Given the description of an element on the screen output the (x, y) to click on. 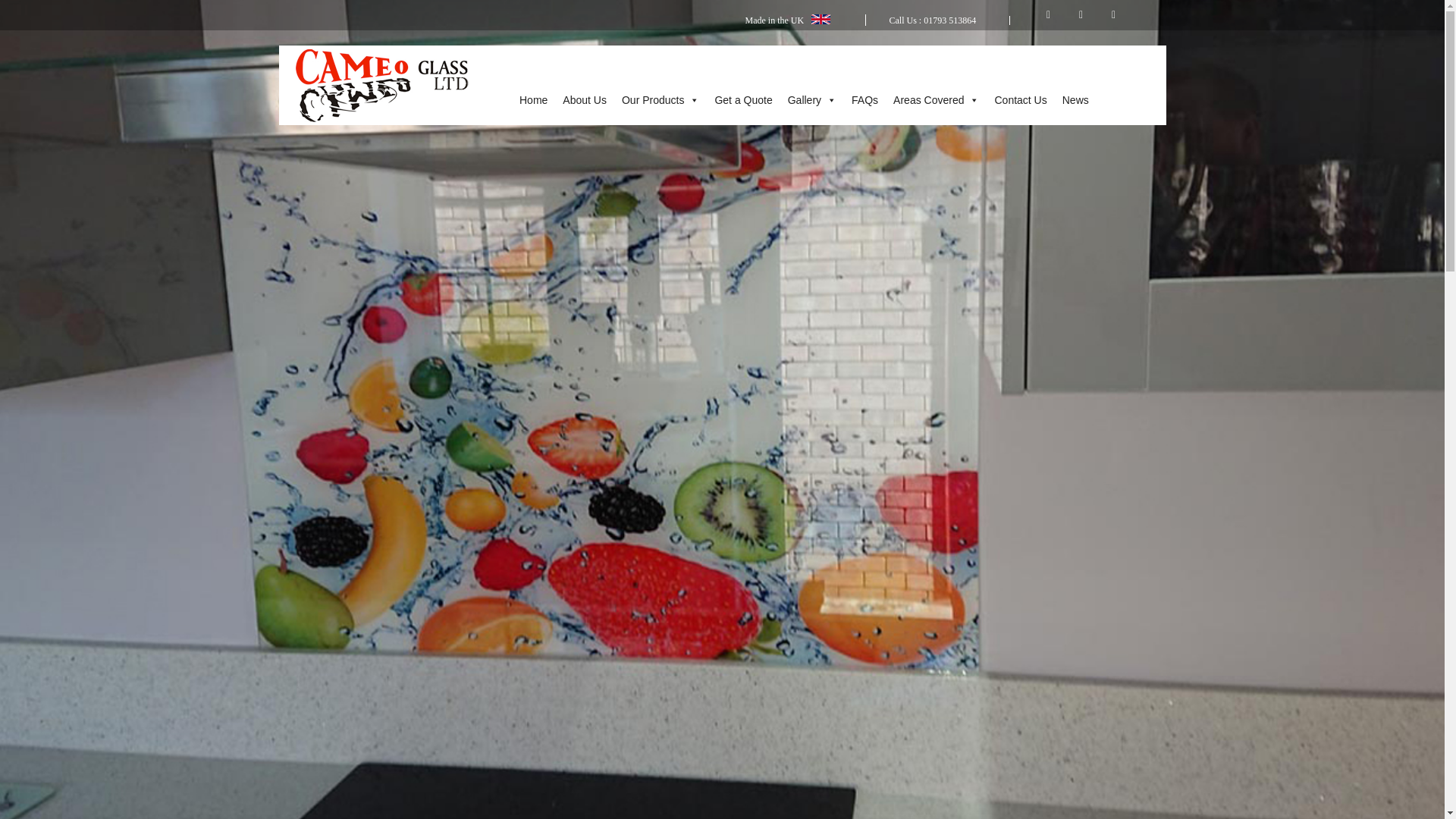
About Us (584, 100)
Gallery (812, 100)
Call Us : 01793 513864 (931, 20)
Our Products (660, 100)
Get a Quote (742, 100)
